Given the description of an element on the screen output the (x, y) to click on. 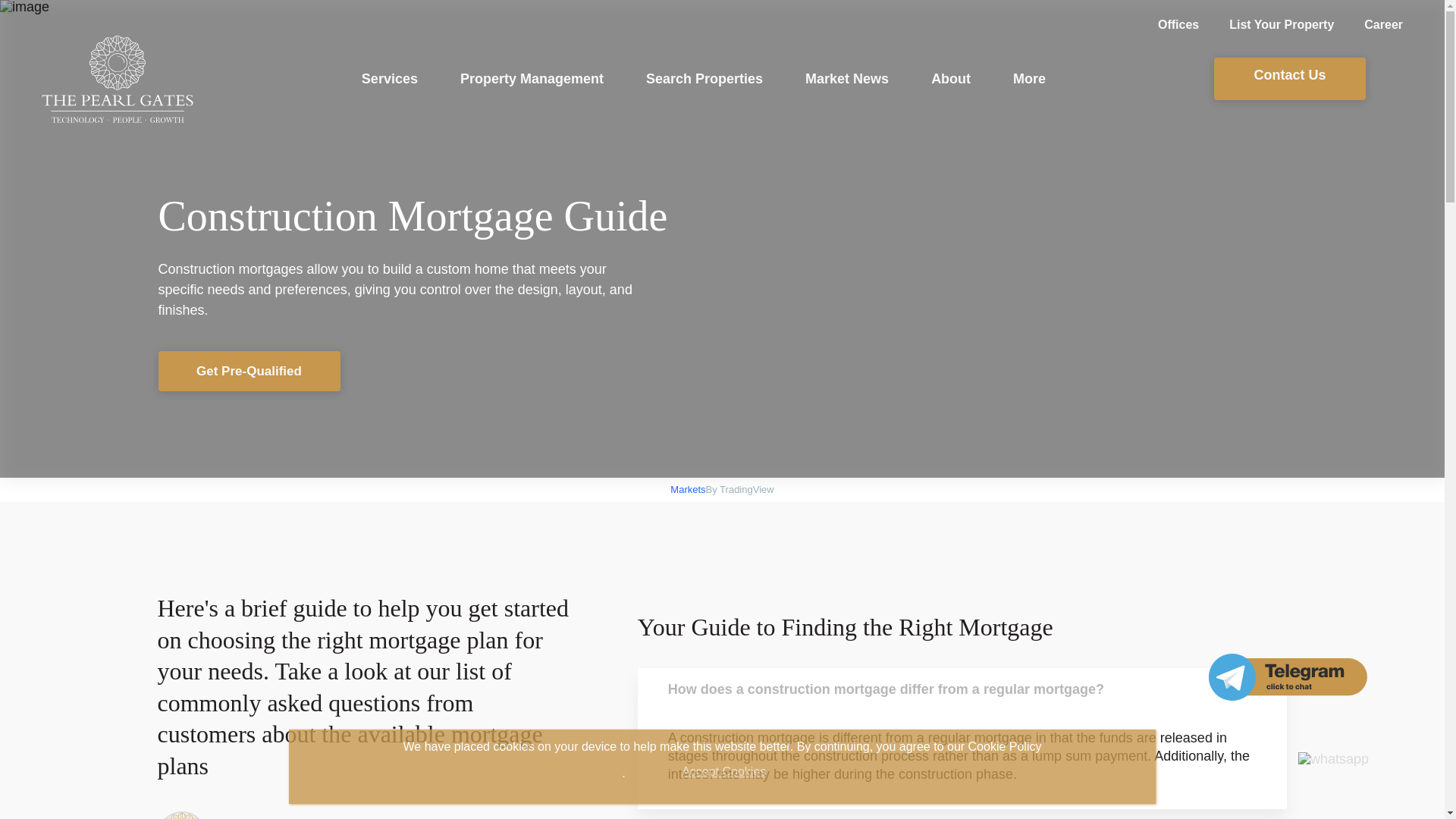
Offices (1162, 25)
Services (389, 78)
Career (1368, 25)
List Your Property (1265, 25)
Whatsapp (1333, 758)
telegram (1288, 677)
